Given the description of an element on the screen output the (x, y) to click on. 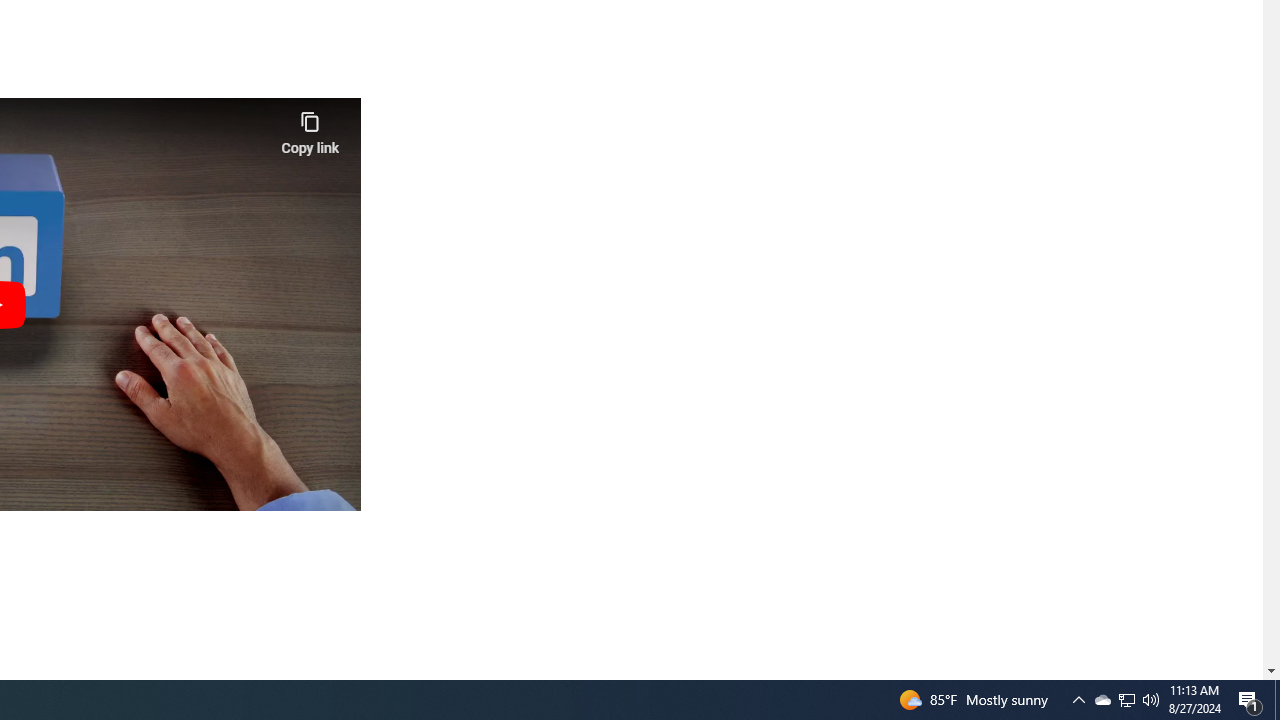
Copy link (310, 128)
